Given the description of an element on the screen output the (x, y) to click on. 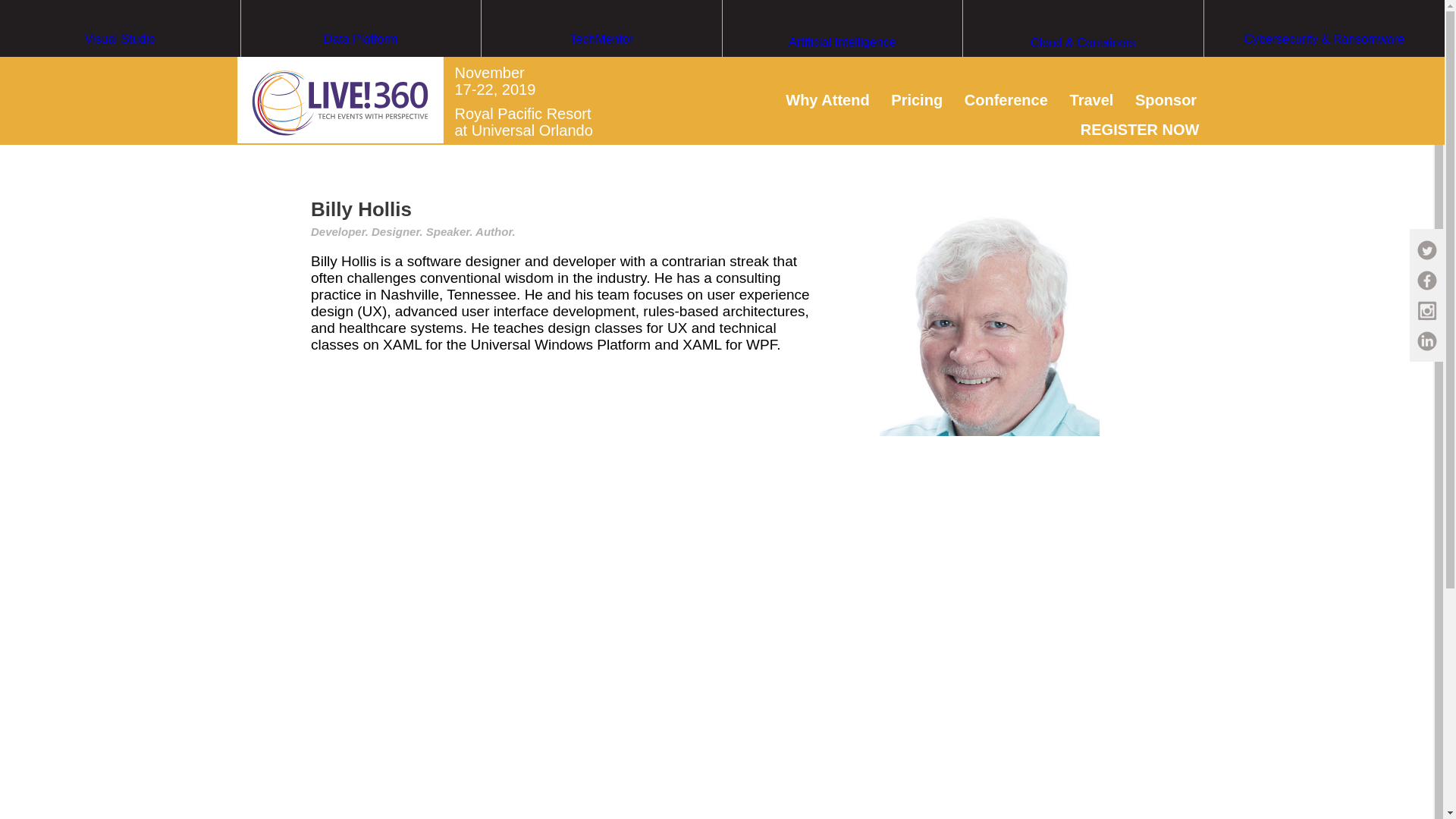
TechMentor (601, 67)
Artificial Intelligence (842, 70)
Visual Studio (120, 67)
Pricing (916, 99)
Conference (1005, 99)
Data Platform (361, 67)
Why Attend (827, 99)
